Given the description of an element on the screen output the (x, y) to click on. 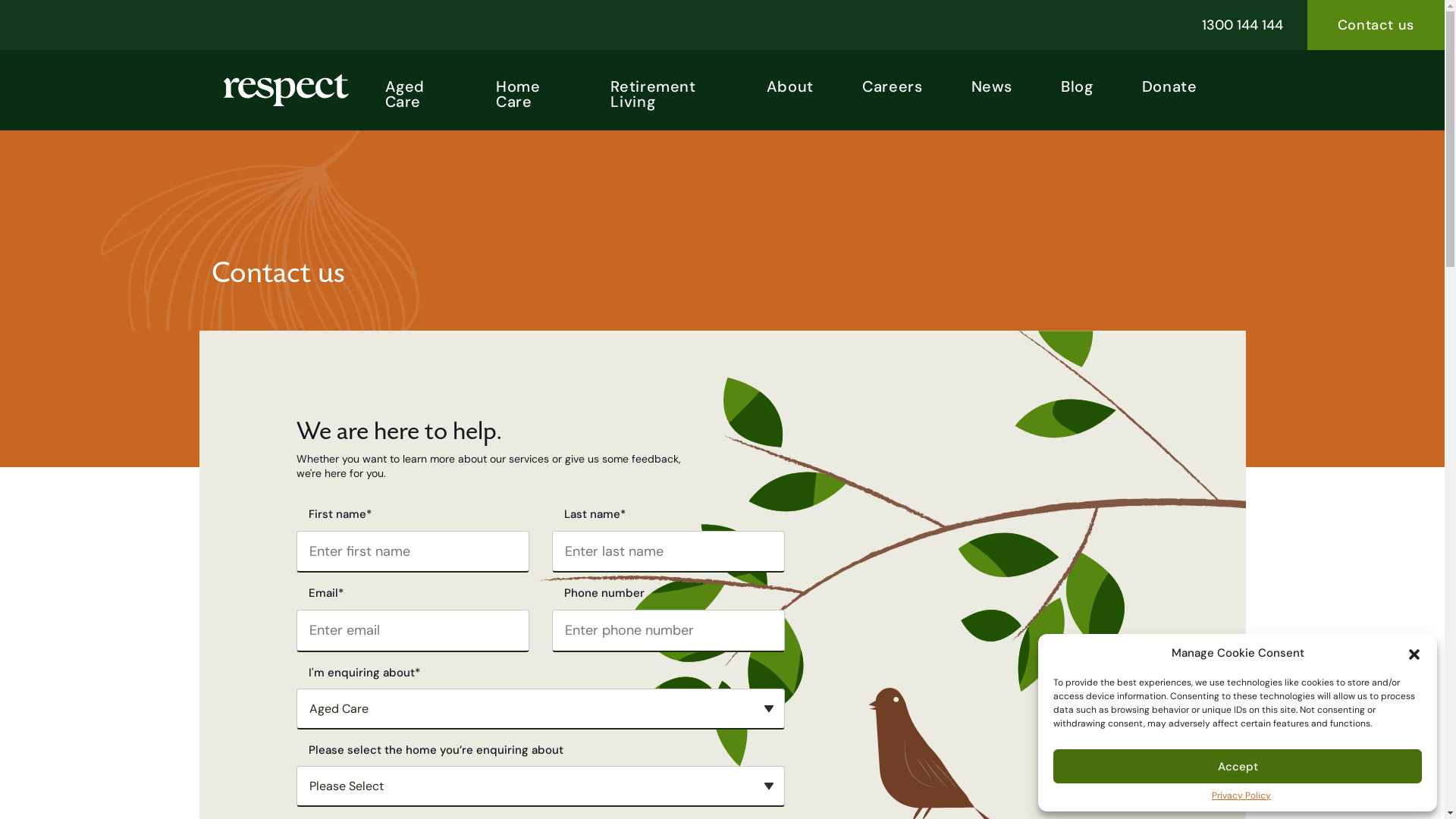
Home Care Element type: text (528, 90)
Donate Element type: text (1169, 82)
Blog Element type: text (1076, 82)
News Element type: text (992, 82)
Careers Element type: text (892, 82)
Respect Aged Care Element type: hover (285, 90)
About Element type: text (789, 82)
Accept Element type: text (1237, 766)
1300 144 144 Element type: text (1242, 24)
Privacy Policy Element type: text (1240, 795)
Retirement Living Element type: text (664, 90)
Aged Care Element type: text (416, 90)
Contact us Element type: text (1375, 25)
